Given the description of an element on the screen output the (x, y) to click on. 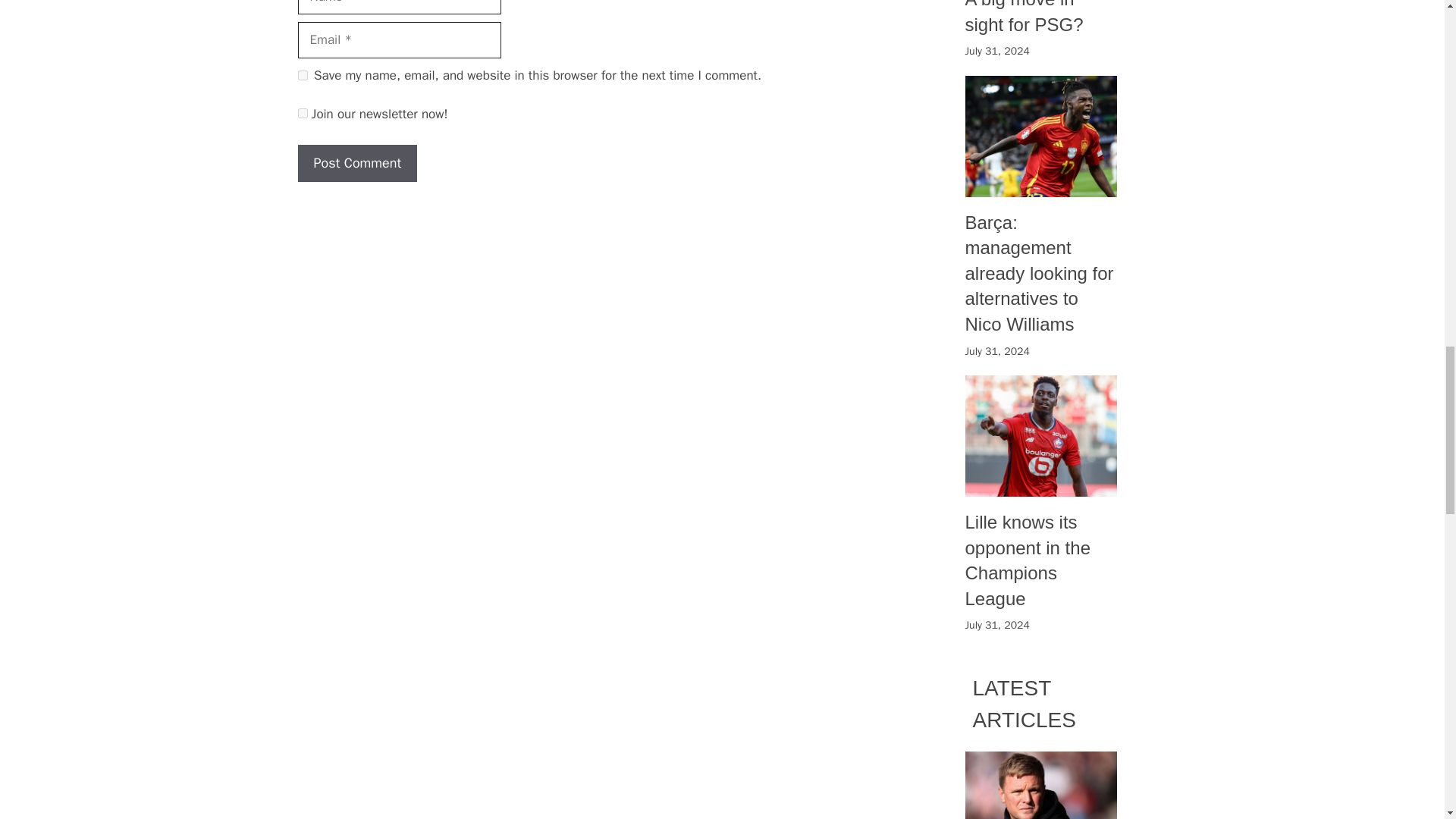
1 (302, 112)
yes (302, 75)
Post Comment (356, 162)
